Given the description of an element on the screen output the (x, y) to click on. 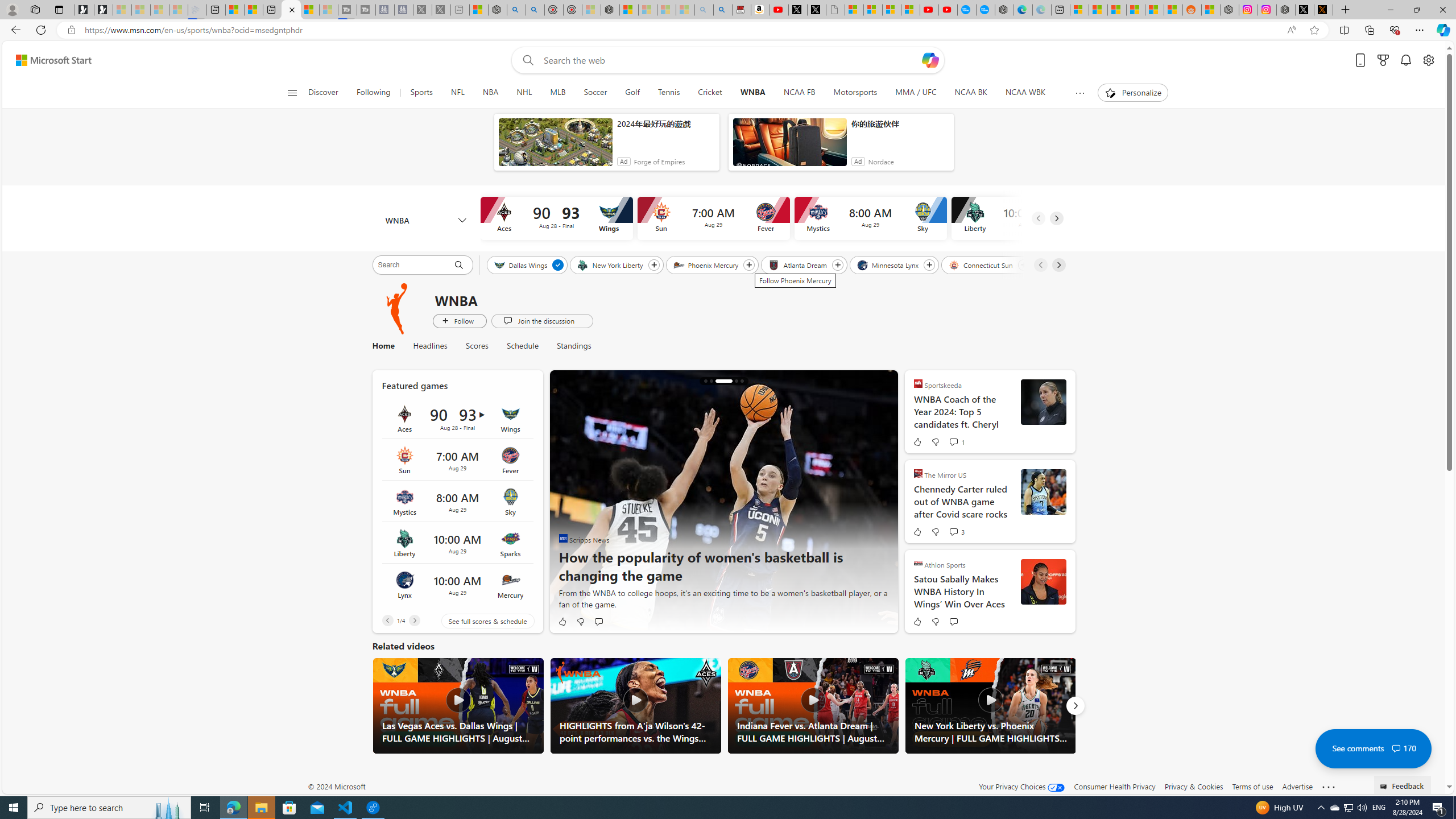
help.x.com | 524: A timeout occurred (1323, 9)
Personalize (1132, 92)
Skip to footer (46, 59)
Gloom - YouTube (929, 9)
Standings (573, 345)
Microsoft rewards (1382, 60)
Next (1074, 705)
Follow Phoenix Mercury (749, 265)
View comments 1 Comment (953, 441)
NFL (456, 92)
